Given the description of an element on the screen output the (x, y) to click on. 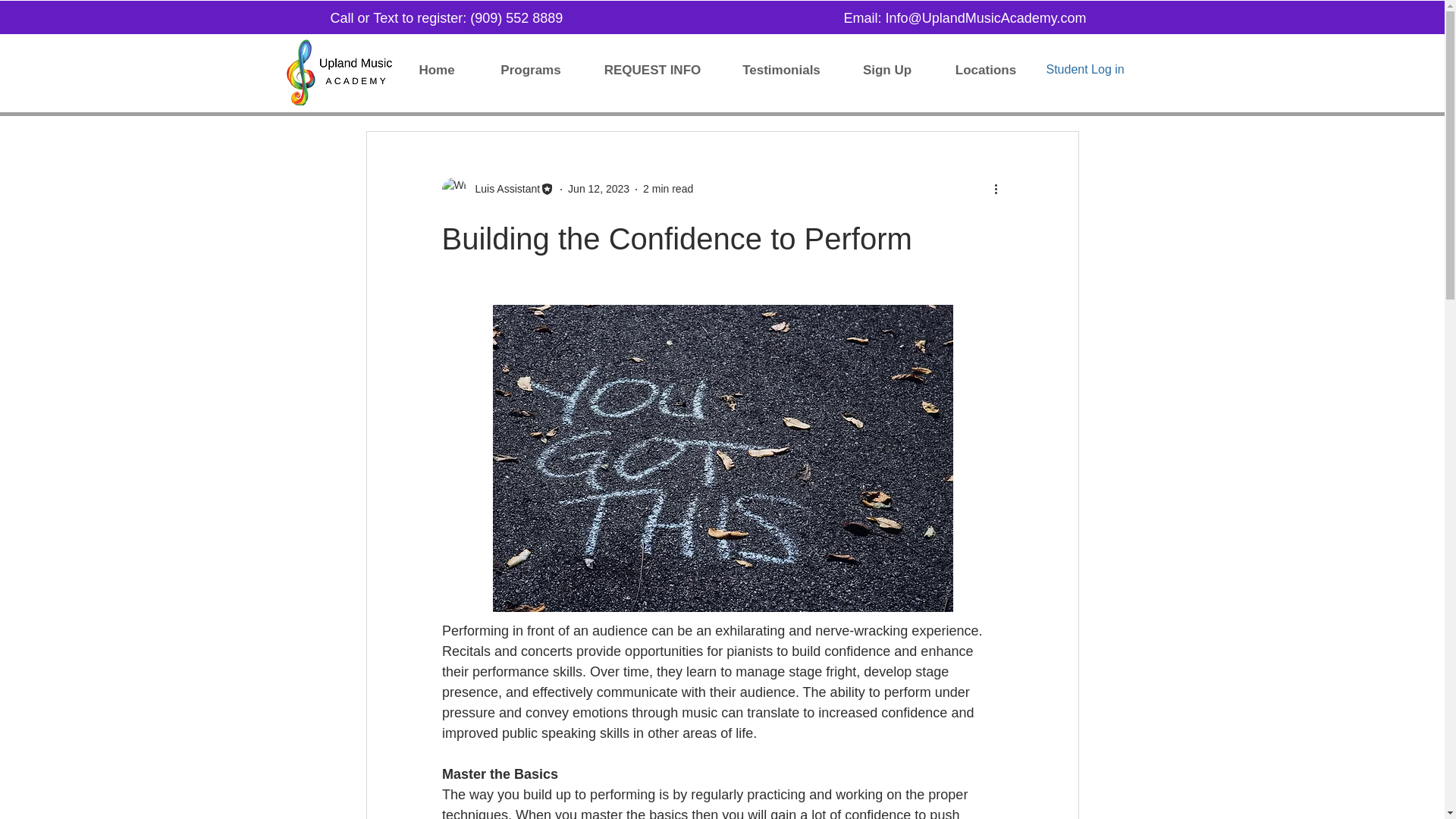
Luis Assistant (502, 188)
Student Log in (1085, 69)
2 min read (668, 188)
Testimonials (781, 70)
Home (436, 70)
Locations (986, 70)
Programs (531, 70)
Jun 12, 2023 (597, 188)
REQUEST INFO (652, 70)
Sign Up (886, 70)
